Given the description of an element on the screen output the (x, y) to click on. 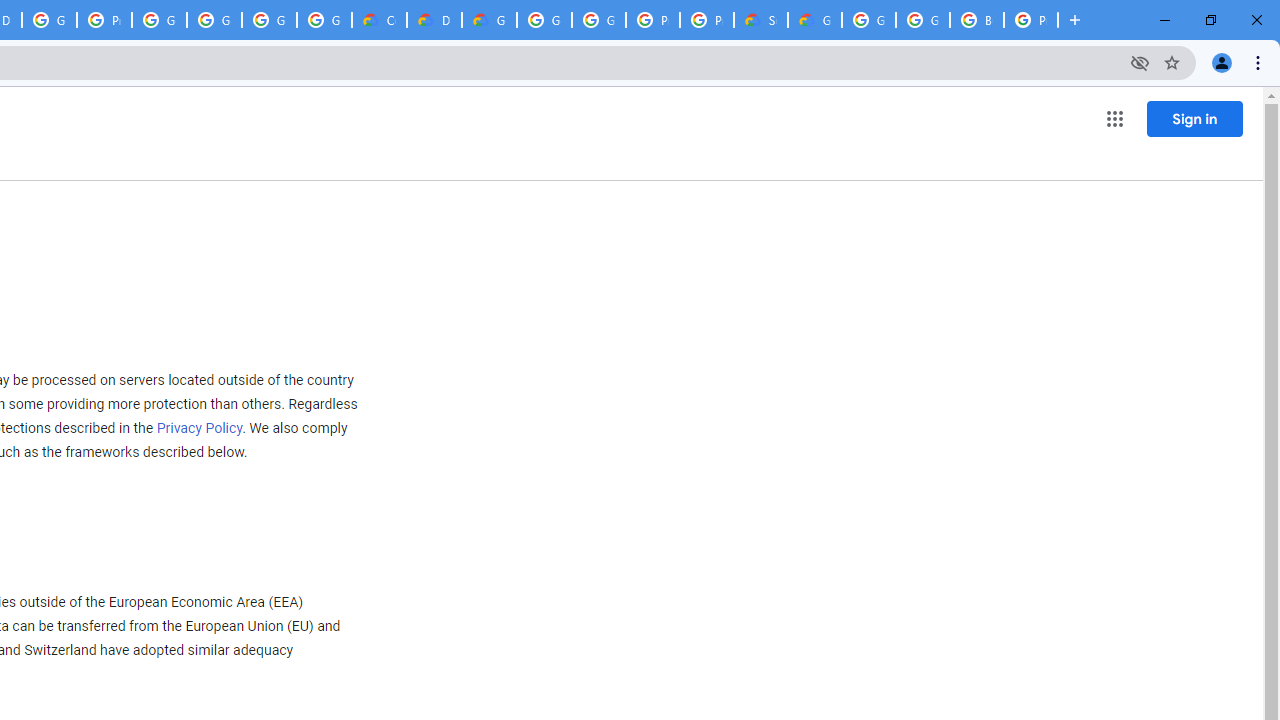
Google Cloud Platform (868, 20)
Google Cloud Platform (544, 20)
Customer Care | Google Cloud (379, 20)
Google Workspace - Specific Terms (268, 20)
Google Cloud Platform (922, 20)
Google Cloud Platform (598, 20)
